Given the description of an element on the screen output the (x, y) to click on. 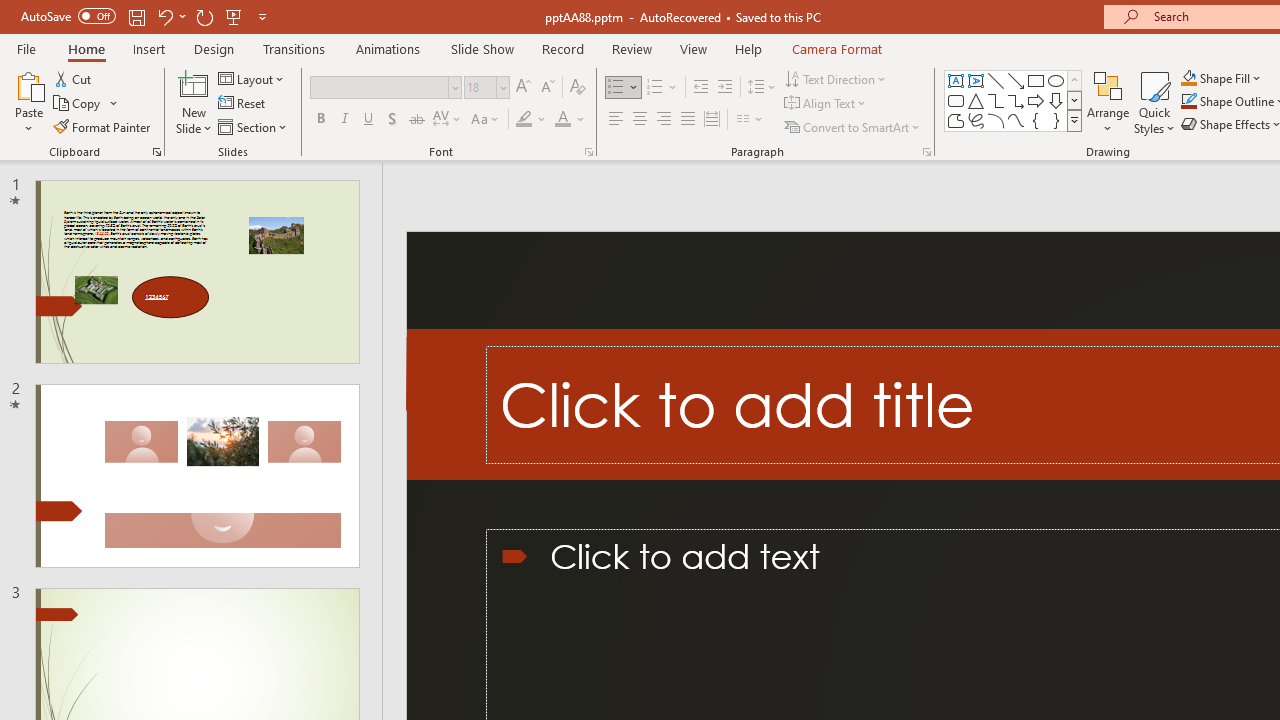
Open (502, 87)
AutomationID: ShapesInsertGallery (1014, 100)
Quick Styles (1154, 102)
Columns (750, 119)
Align Right (663, 119)
Oval (1055, 80)
Align Text (826, 103)
Rectangle (1035, 80)
Decrease Font Size (547, 87)
Bullets (616, 87)
Font (379, 87)
Distributed (712, 119)
Cut (73, 78)
